Given the description of an element on the screen output the (x, y) to click on. 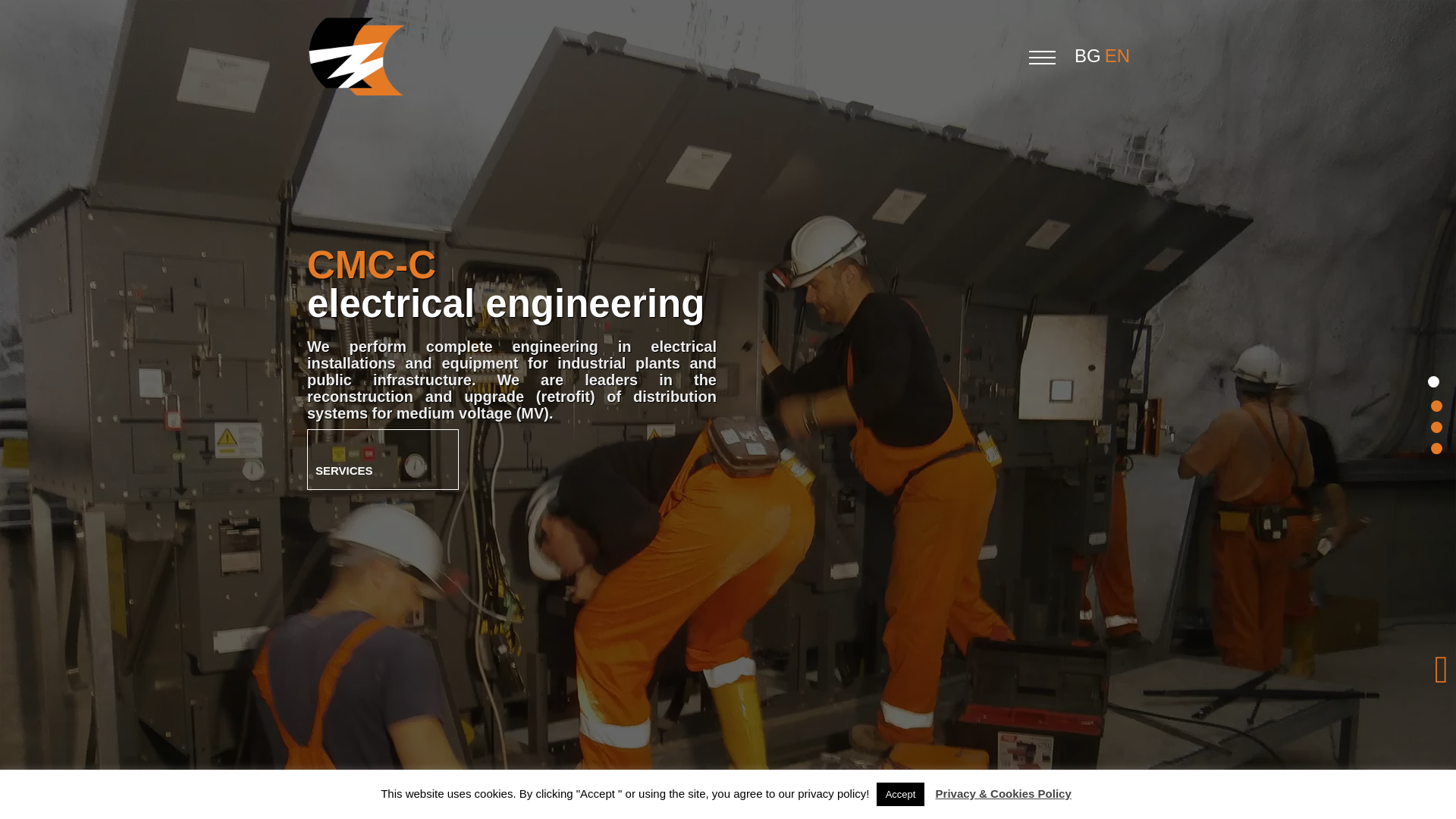
About us (1432, 402)
Products (1432, 423)
Accept (900, 793)
Career (1432, 444)
Home (1432, 380)
English (1119, 55)
SERVICES (382, 459)
Services (382, 459)
